Given the description of an element on the screen output the (x, y) to click on. 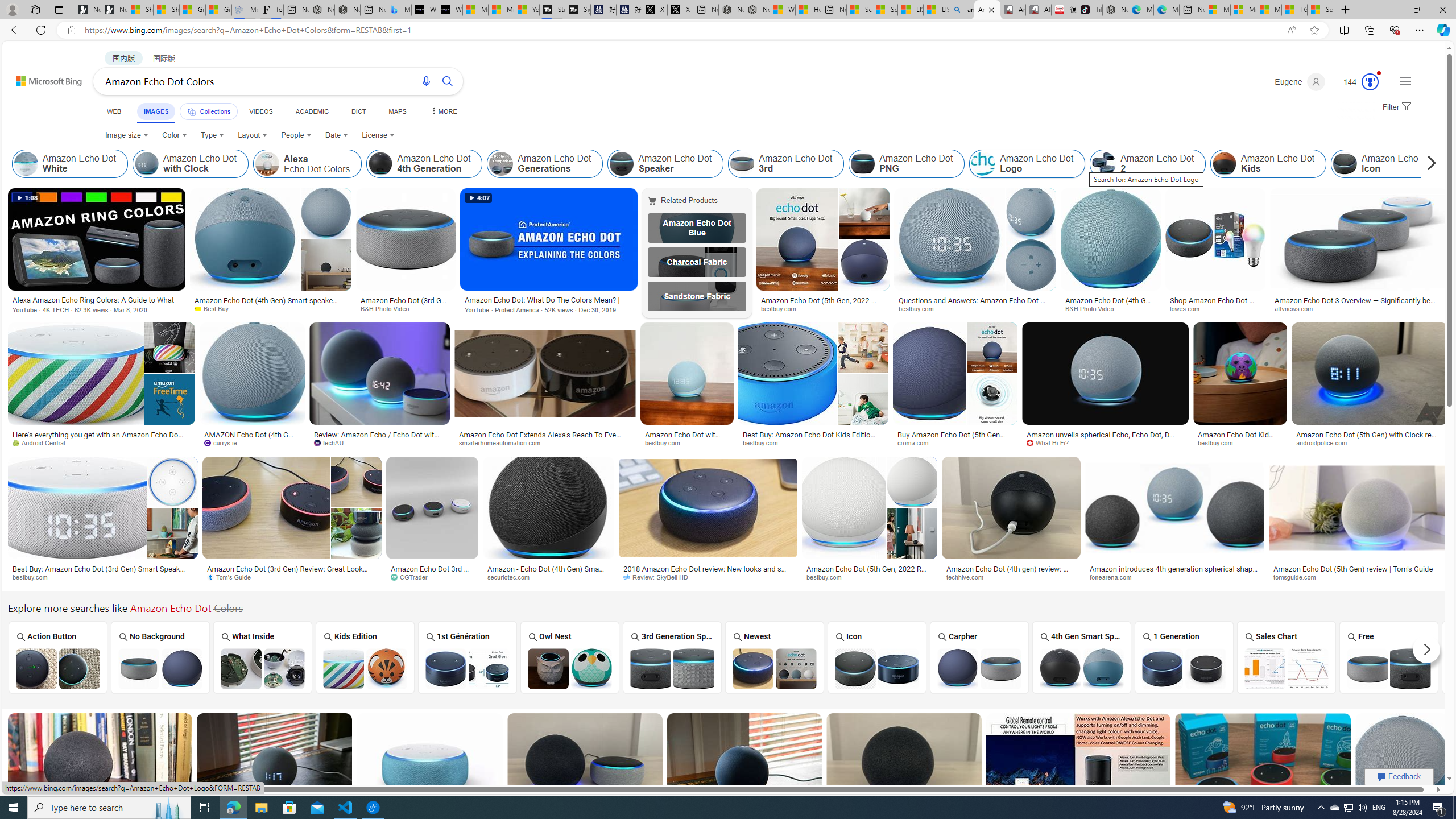
smarterhomeautomation.com (503, 442)
Carpher (978, 656)
Amazon Echo Dot 2 (1104, 163)
Amazon Echo Dot Kids Edition (364, 668)
currys.ie (251, 442)
Dropdown Menu (443, 111)
Review: SkyBell HD (708, 576)
No Background (160, 656)
Tom's Guide (291, 576)
Amazon Echo Dot Owl and Nest Owl Nest (569, 656)
